Given the description of an element on the screen output the (x, y) to click on. 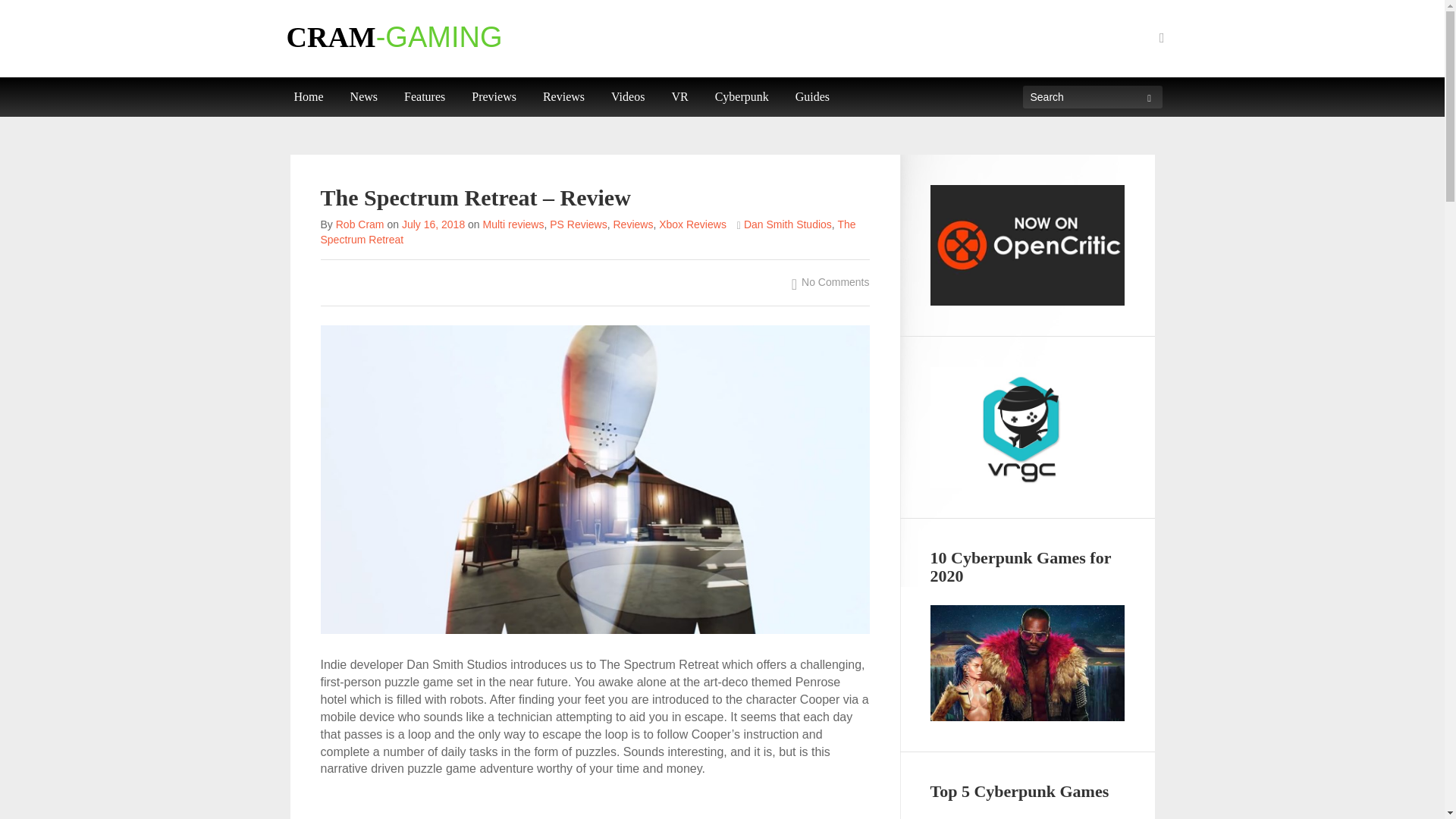
Previews (493, 96)
News (363, 96)
Reviews (632, 224)
Features (425, 96)
Videos (627, 96)
Xbox Reviews (692, 224)
The Spectrum Retreat (588, 231)
Home (308, 96)
No Comments (830, 280)
Reviews (563, 96)
10 Cyberpunk Games for 2020 (1027, 662)
Rob Cram (360, 224)
Guides (812, 96)
PS Reviews (578, 224)
CRAM-GAMING (394, 37)
